Given the description of an element on the screen output the (x, y) to click on. 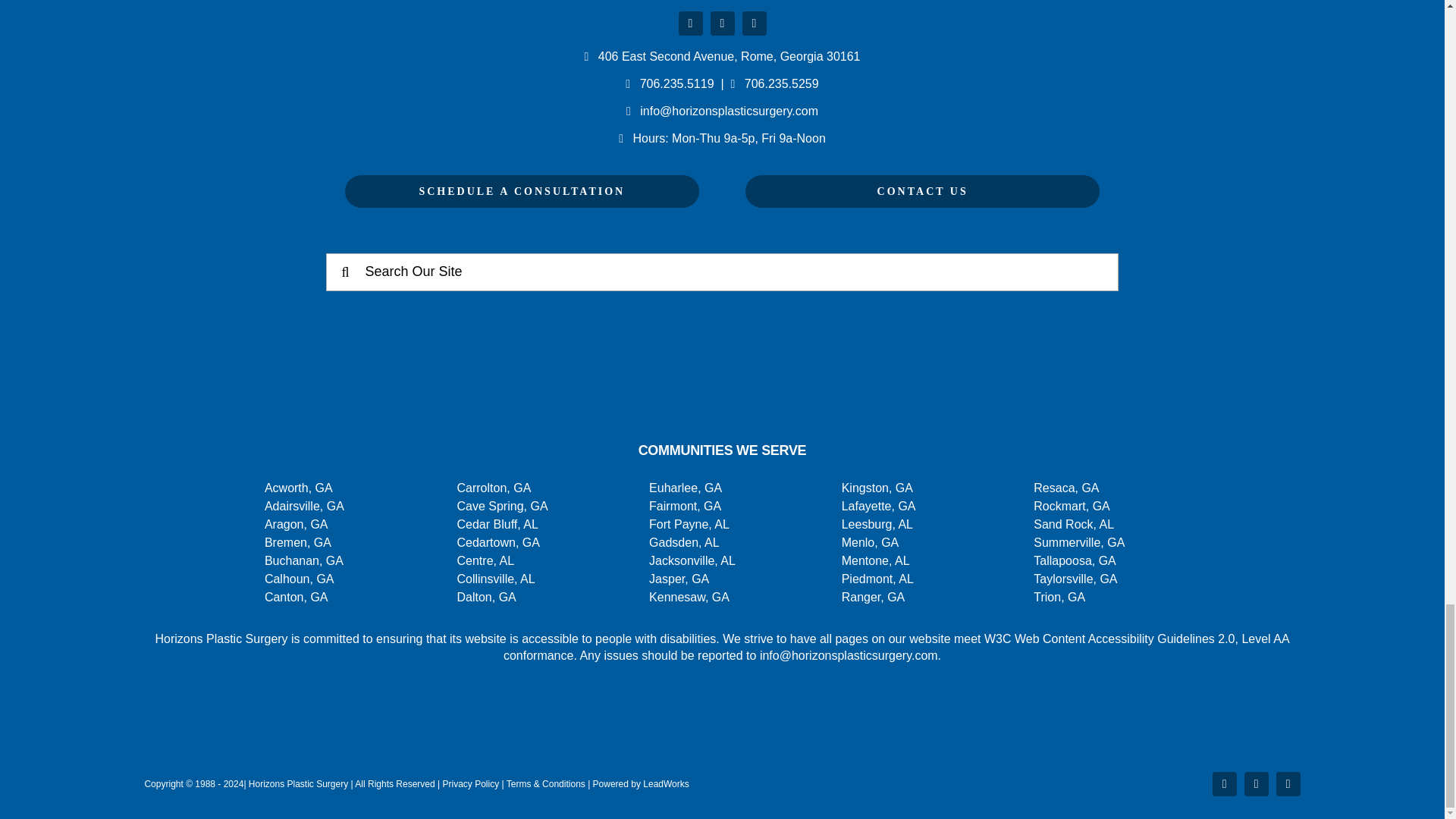
Facebook (689, 23)
